Given the description of an element on the screen output the (x, y) to click on. 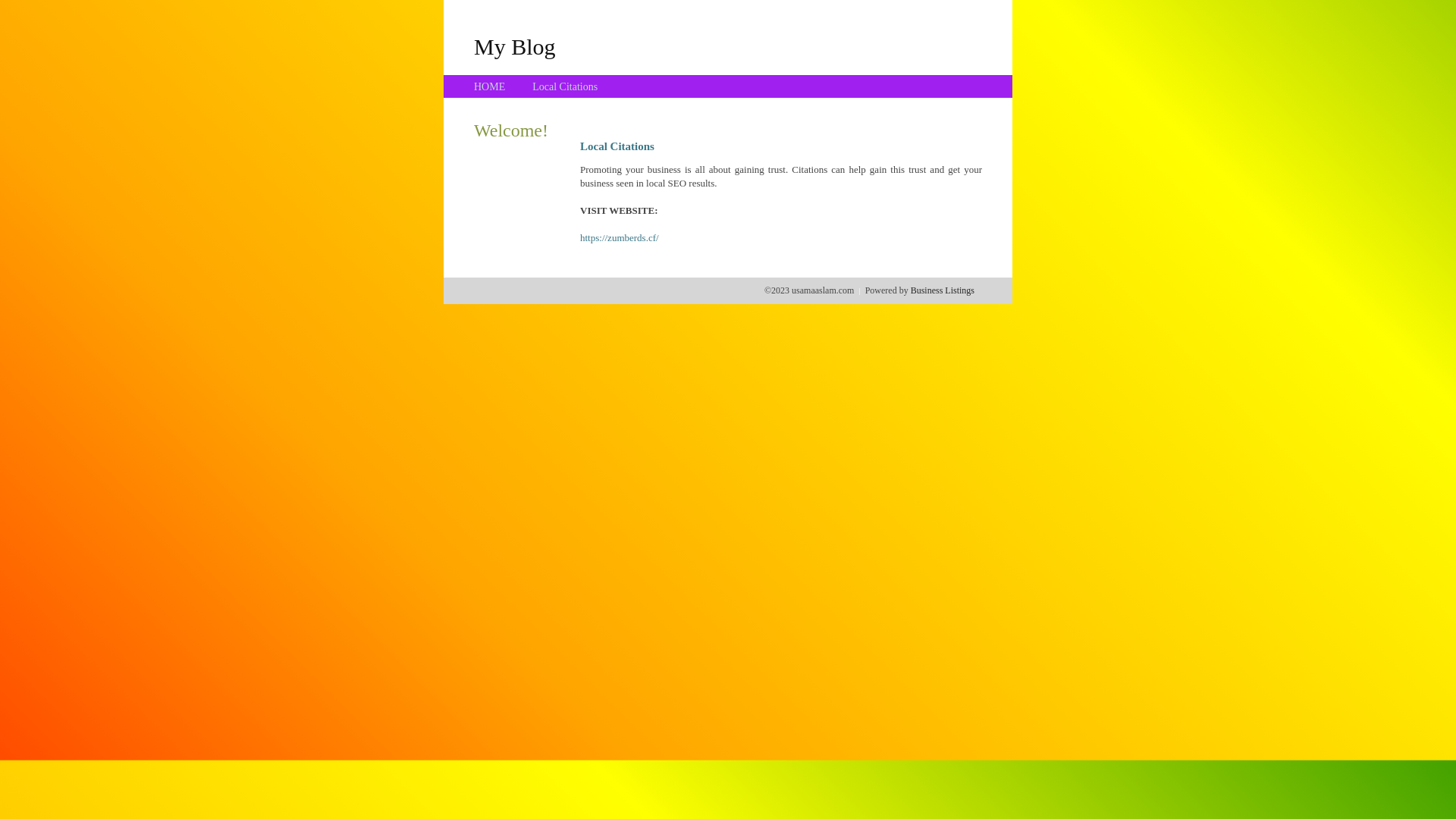
Business Listings Element type: text (942, 290)
HOME Element type: text (489, 86)
My Blog Element type: text (514, 46)
https://zumberds.cf/ Element type: text (619, 237)
Local Citations Element type: text (564, 86)
